Given the description of an element on the screen output the (x, y) to click on. 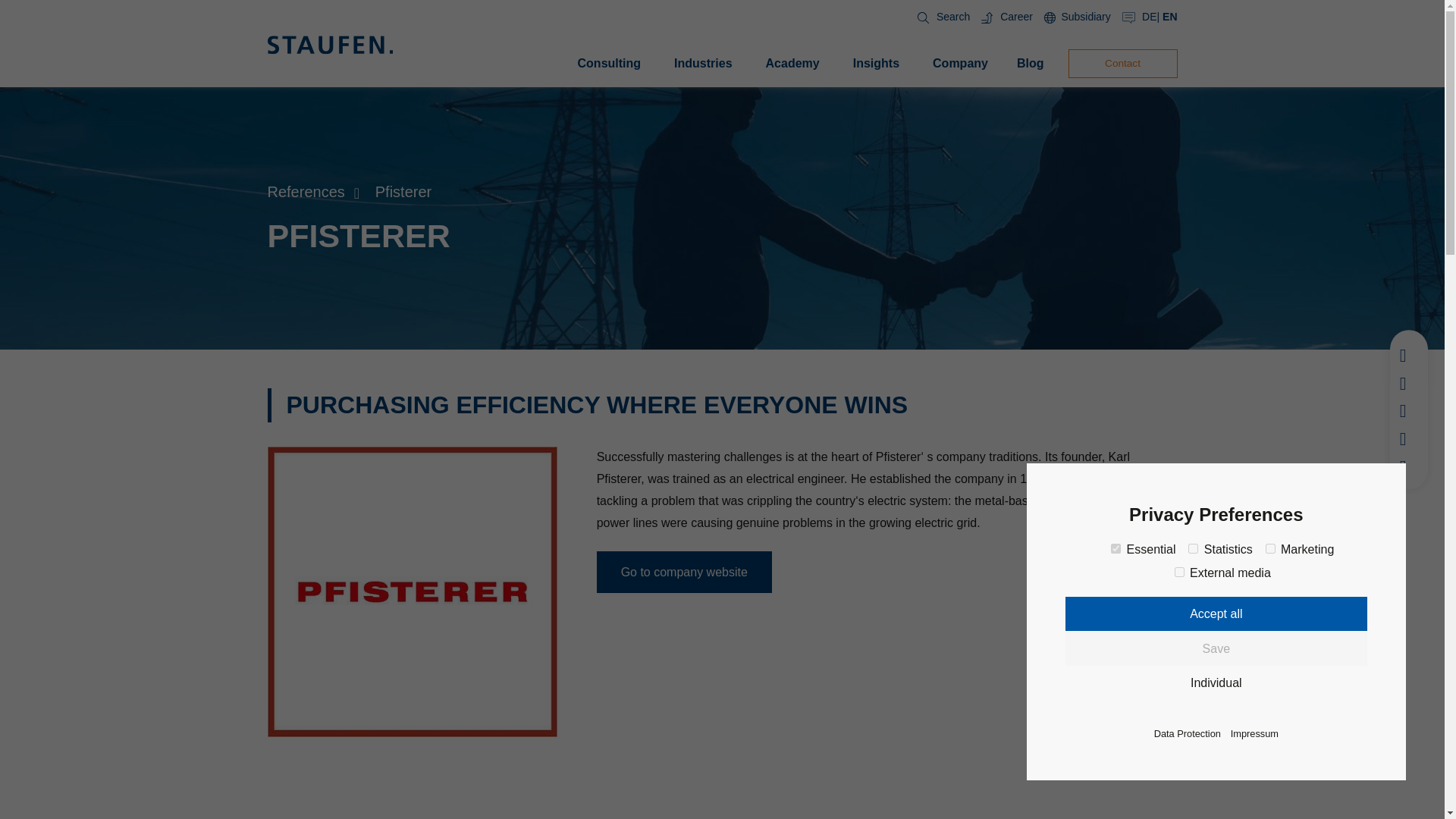
Blog (1029, 63)
on (1270, 548)
Consulting (609, 63)
on (1179, 572)
Academy (792, 63)
References (304, 191)
Company (960, 63)
Search (939, 16)
DE (1148, 16)
EN (1168, 16)
Contact (1121, 63)
Insights (876, 63)
Pfisterer (402, 191)
Industries (702, 63)
on (1193, 548)
